Given the description of an element on the screen output the (x, y) to click on. 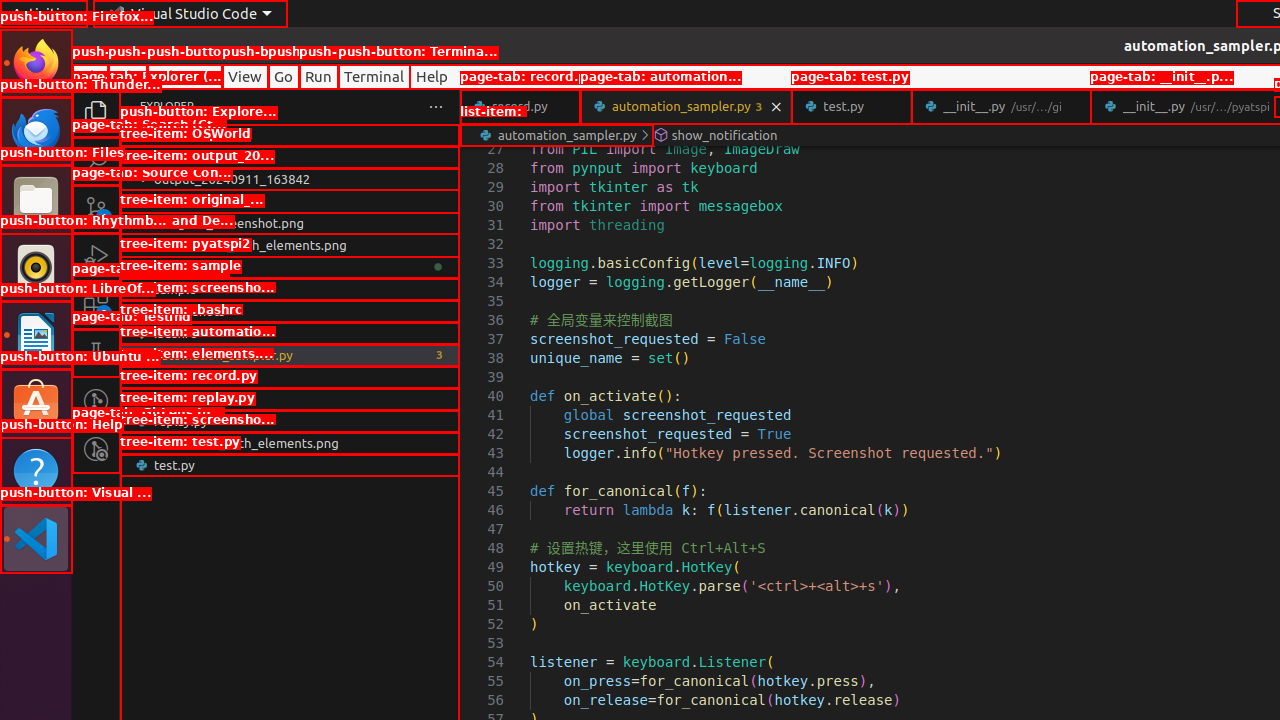
pyatspi2 Element type: tree-item (289, 267)
Go Element type: push-button (283, 76)
original_screenshot.png Element type: tree-item (289, 223)
